Given the description of an element on the screen output the (x, y) to click on. 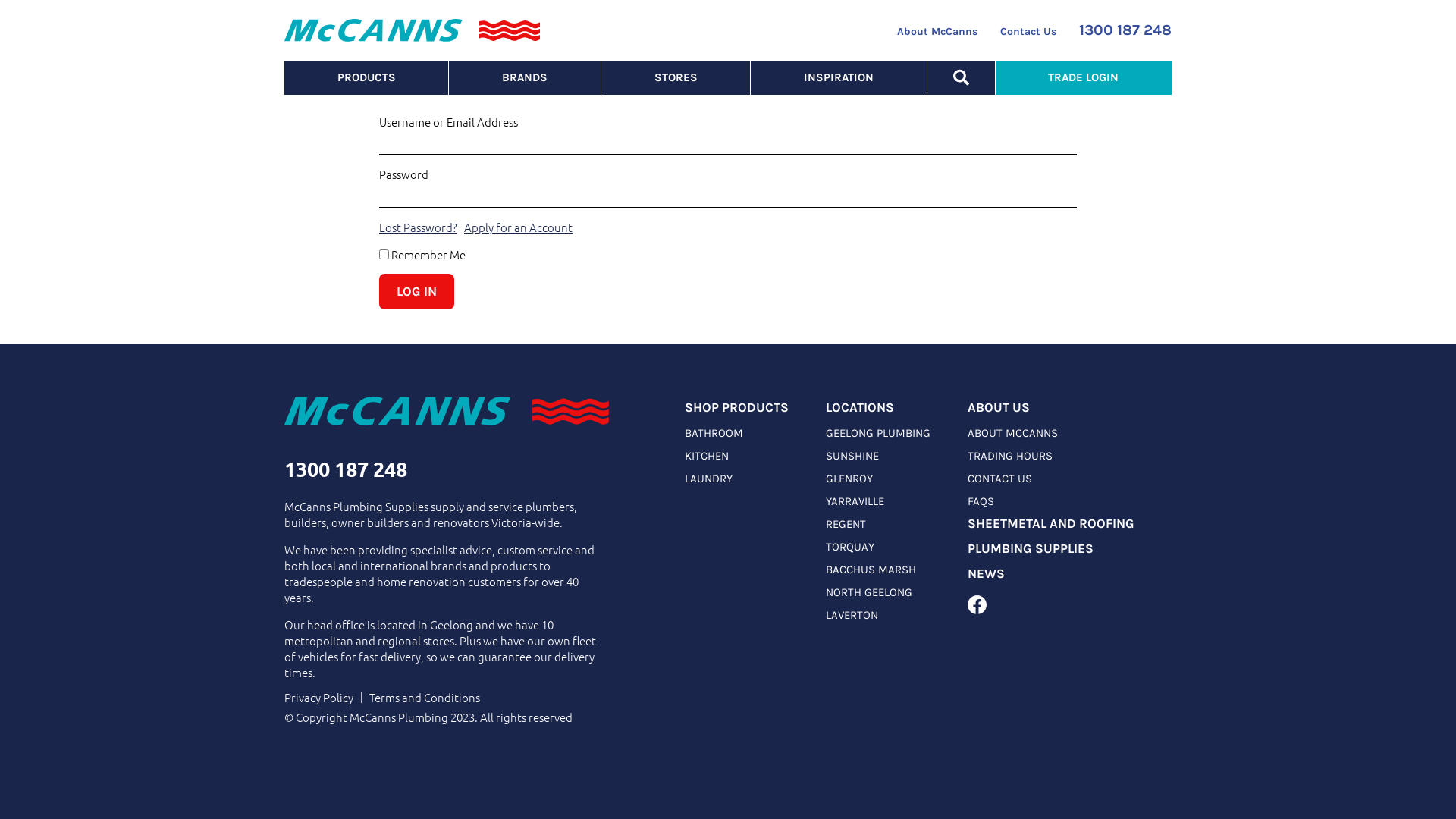
SHOP PRODUCTS Element type: text (736, 407)
BACCHUS MARSH Element type: text (870, 569)
FAQS Element type: text (980, 501)
SEARCH Element type: text (960, 77)
GEELONG PLUMBING Element type: text (877, 432)
PLUMBING SUPPLIES Element type: text (1030, 548)
GLENROY Element type: text (848, 478)
LAUNDRY Element type: text (708, 478)
Apply for an Account Element type: text (518, 226)
STORES Element type: text (675, 77)
ABOUT MCCANNS Element type: text (1012, 432)
KITCHEN Element type: text (706, 455)
SHEETMETAL AND ROOFING Element type: text (1050, 523)
ABOUT US Element type: text (998, 407)
NEWS Element type: text (985, 573)
Privacy Policy Element type: text (318, 697)
LAVERTON Element type: text (851, 614)
PRODUCTS Element type: text (366, 77)
1300 187 248 Element type: text (345, 468)
CONTACT US Element type: text (999, 478)
TRADING HOURS Element type: text (1009, 455)
TORQUAY Element type: text (849, 546)
Terms and Conditions Element type: text (424, 697)
INSPIRATION Element type: text (837, 77)
Lost Password? Element type: text (418, 226)
1300 187 248 Element type: text (1125, 29)
BRANDS Element type: text (523, 77)
About McCanns Element type: text (937, 31)
NORTH GEELONG Element type: text (868, 592)
Log In Element type: text (416, 291)
YARRAVILLE Element type: text (854, 501)
Contact Us Element type: text (1028, 31)
TRADE LOGIN Element type: text (1083, 77)
SUNSHINE Element type: text (851, 455)
REGENT Element type: text (845, 523)
LOCATIONS Element type: text (859, 407)
BATHROOM Element type: text (713, 432)
